Given the description of an element on the screen output the (x, y) to click on. 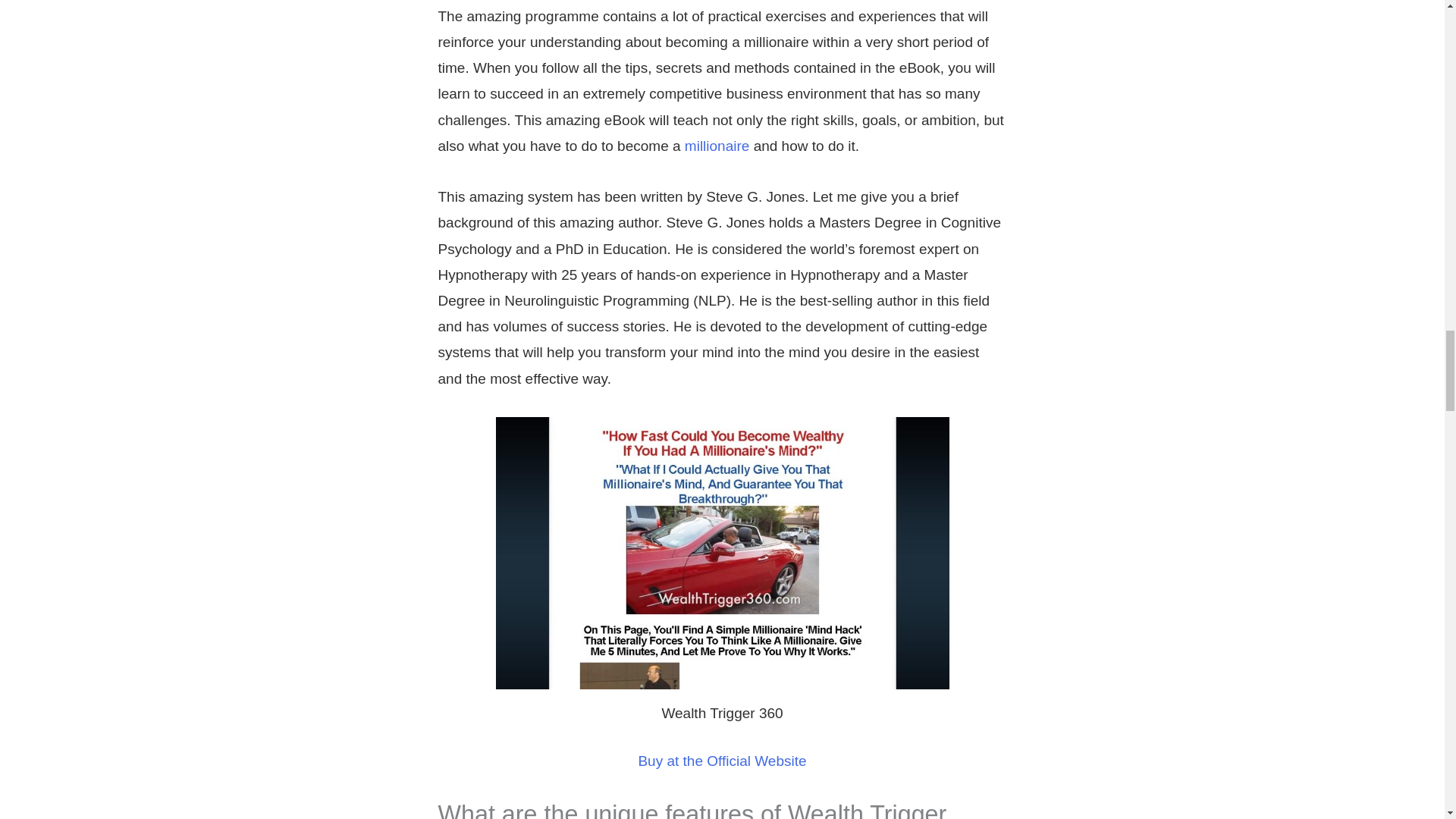
Wealth Trigger 360 (722, 552)
